Given the description of an element on the screen output the (x, y) to click on. 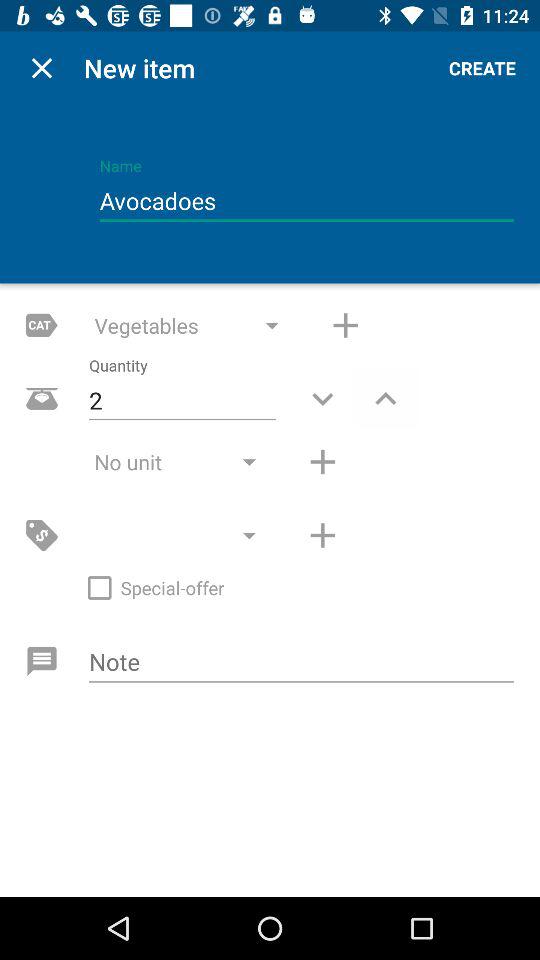
go to close (42, 68)
